Given the description of an element on the screen output the (x, y) to click on. 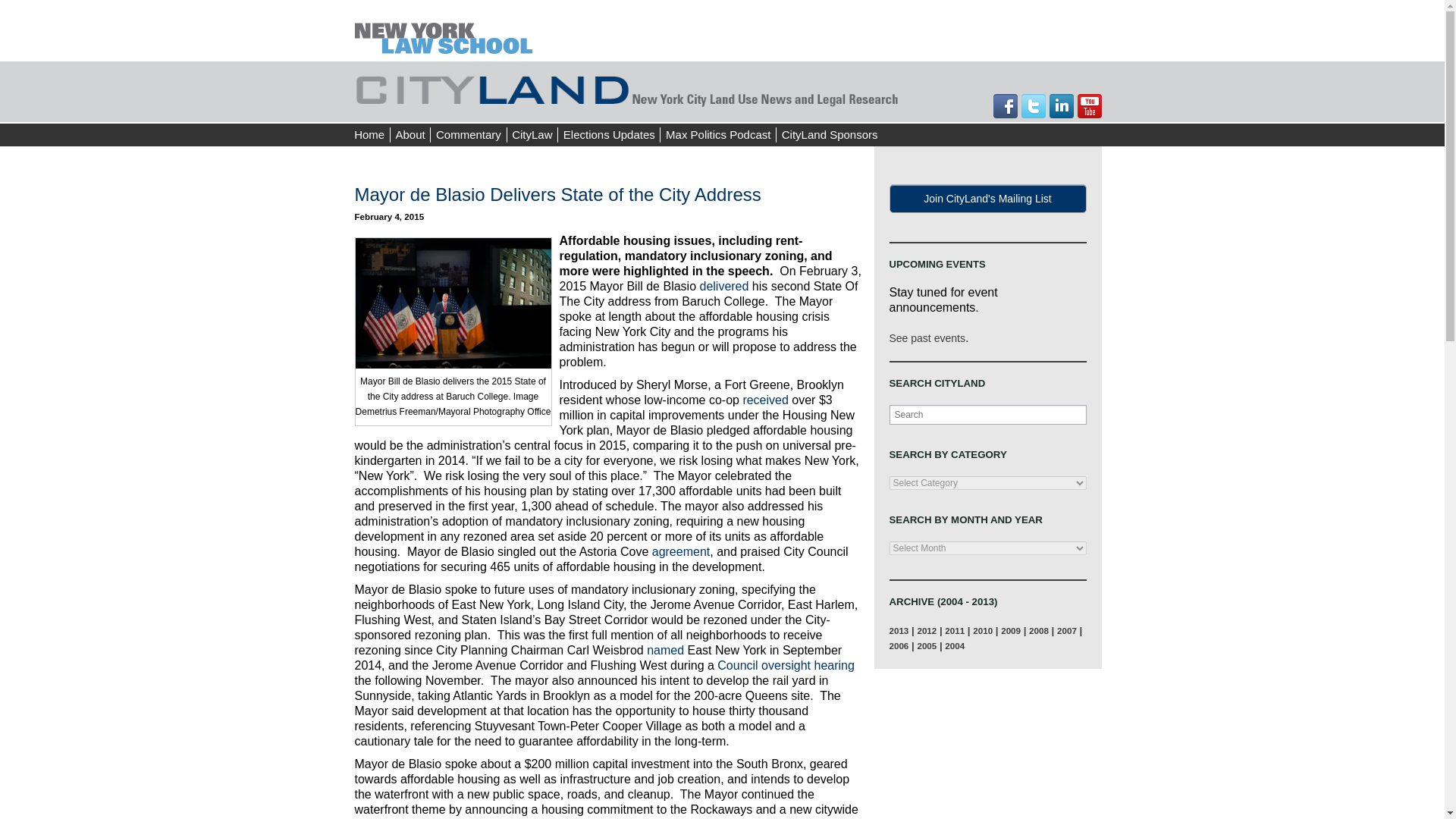
Facebook (1004, 105)
Twitter (1032, 105)
Elections Updates (608, 134)
Max Politics Podcast (718, 134)
Home (368, 134)
agreement (681, 551)
Commentary (467, 134)
Council oversight hearing (785, 665)
February 4, 2015 (390, 216)
named (665, 649)
received (764, 399)
5:00 am (390, 216)
CityLaw (531, 134)
CityLand (628, 88)
CityLand Sponsors (829, 134)
